Given the description of an element on the screen output the (x, y) to click on. 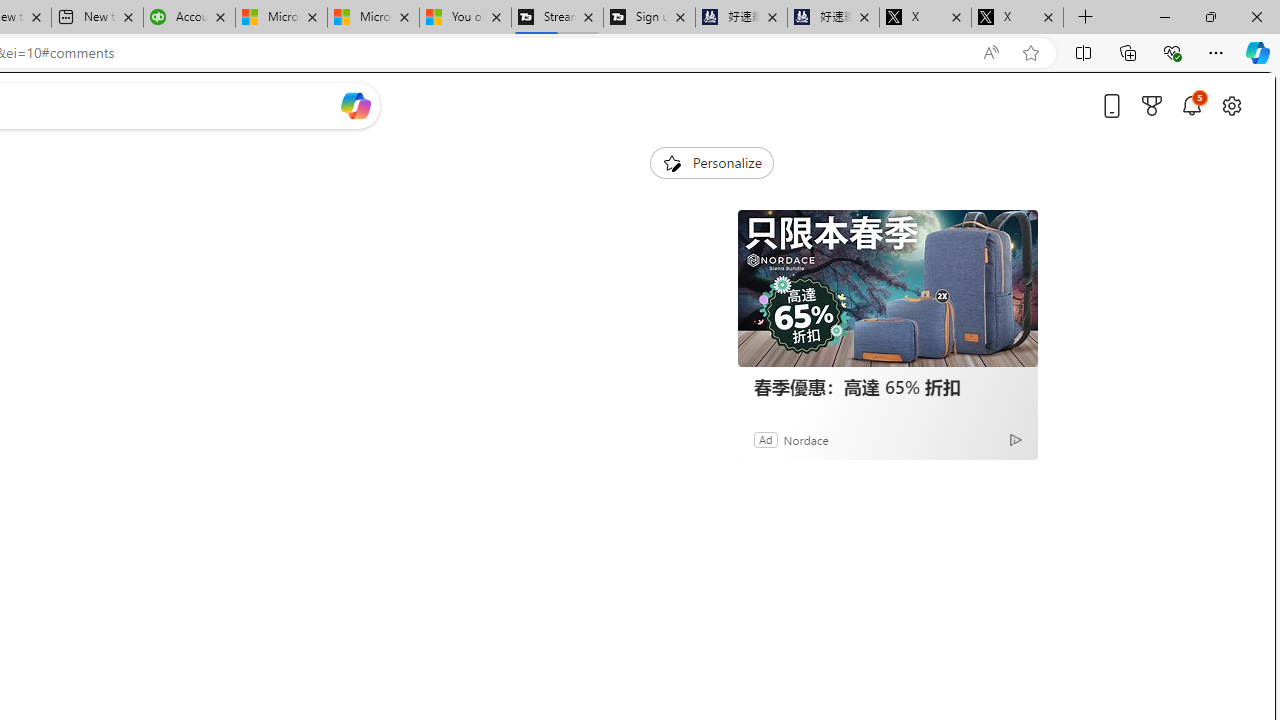
Personalize (711, 162)
